Given the description of an element on the screen output the (x, y) to click on. 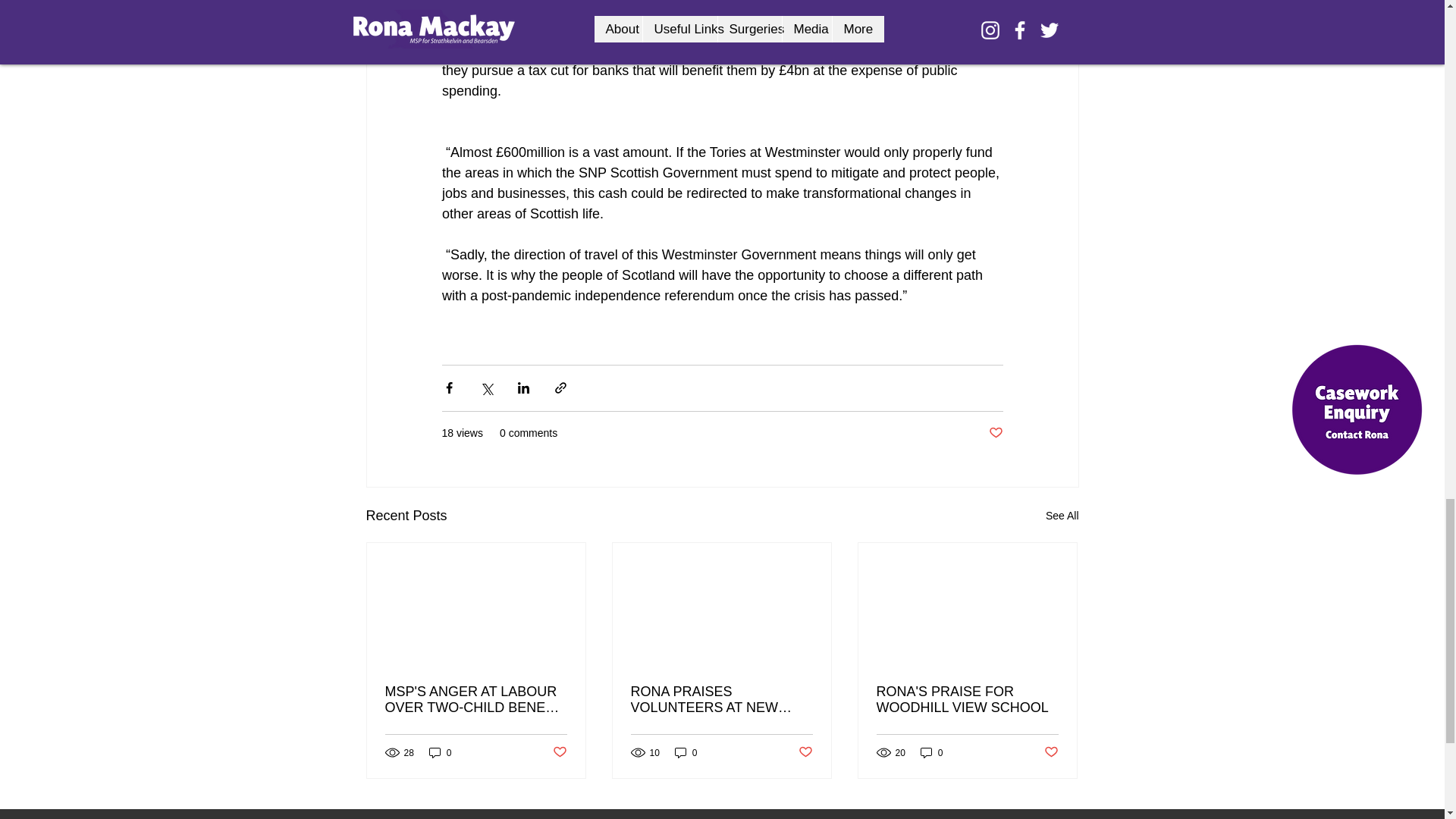
0 (685, 752)
0 (440, 752)
MSP'S ANGER AT LABOUR OVER TWO-CHILD BENEFIT CAP VOTE (476, 699)
RONA'S PRAISE FOR WOODHILL VIEW SCHOOL (967, 699)
RONA PRAISES VOLUNTEERS AT NEW COMMUNITY HUB (721, 699)
Post not marked as liked (804, 752)
Post not marked as liked (1050, 752)
Post not marked as liked (995, 433)
0 (931, 752)
Post not marked as liked (558, 752)
